Given the description of an element on the screen output the (x, y) to click on. 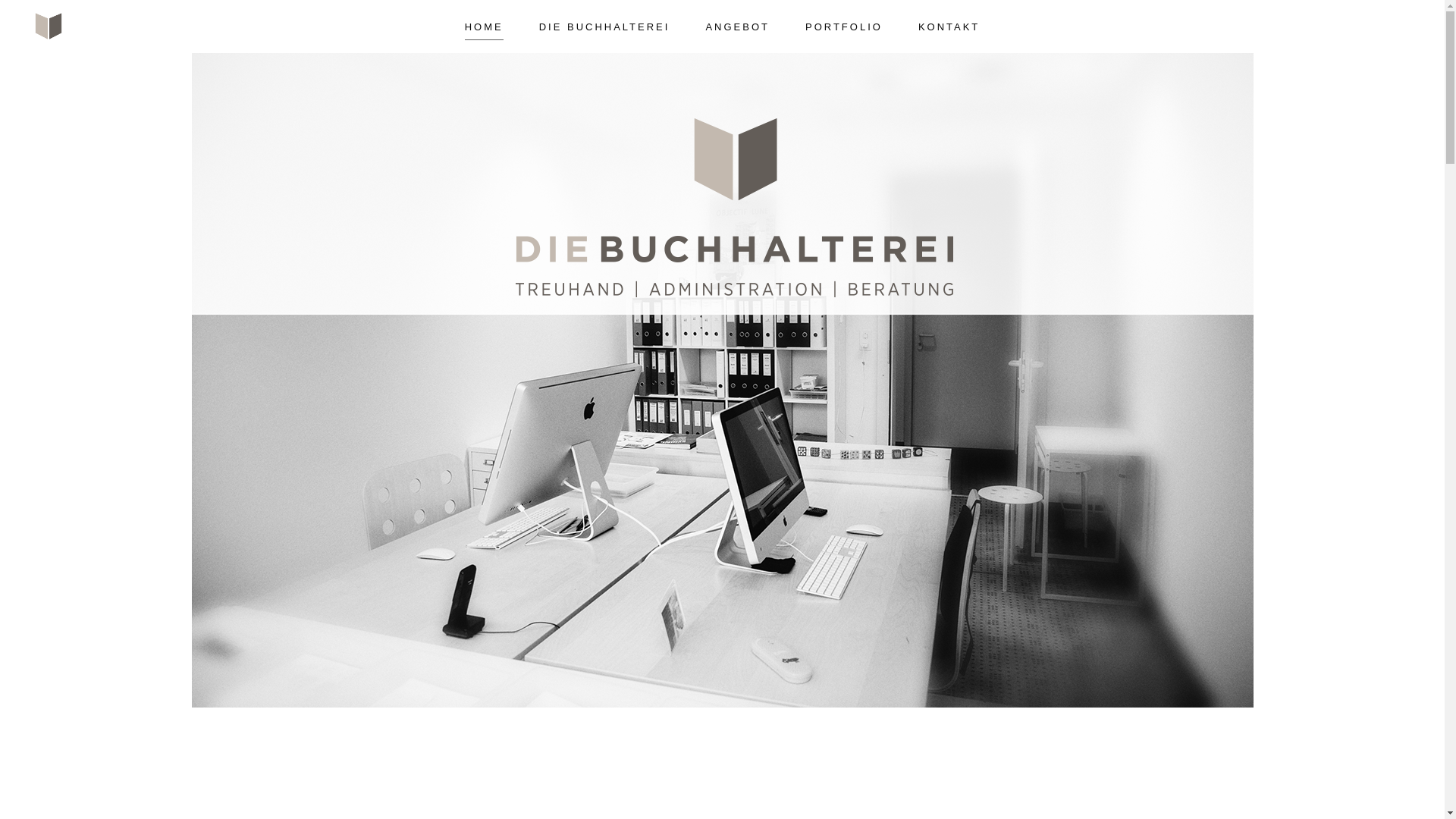
DIE BUCHHALTEREI Element type: text (604, 20)
PORTFOLIO Element type: text (843, 20)
HOME Element type: text (483, 20)
KONTAKT Element type: text (948, 20)
ANGEBOT Element type: text (737, 20)
